Given the description of an element on the screen output the (x, y) to click on. 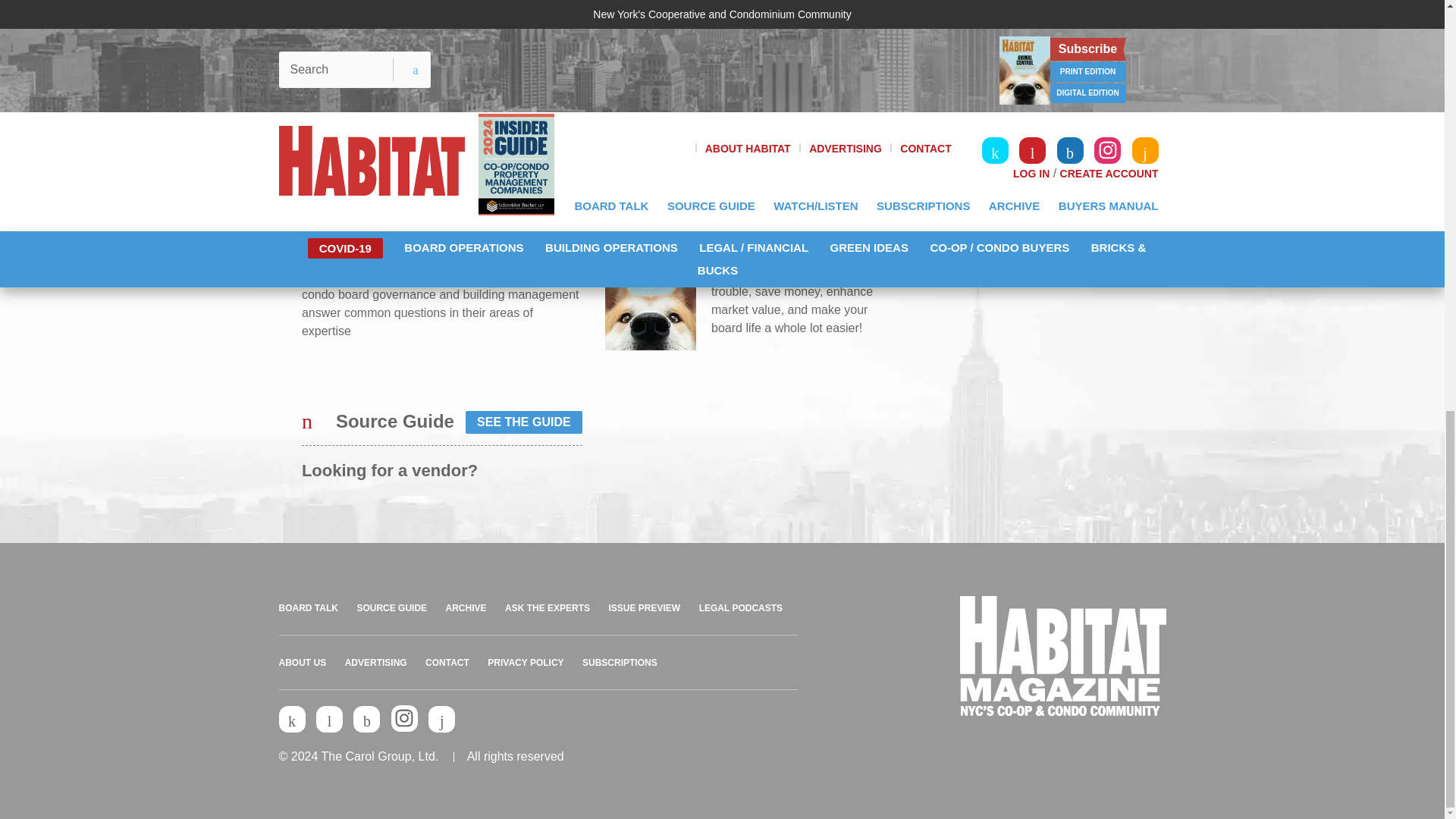
Visit Instagram page (404, 718)
